Given the description of an element on the screen output the (x, y) to click on. 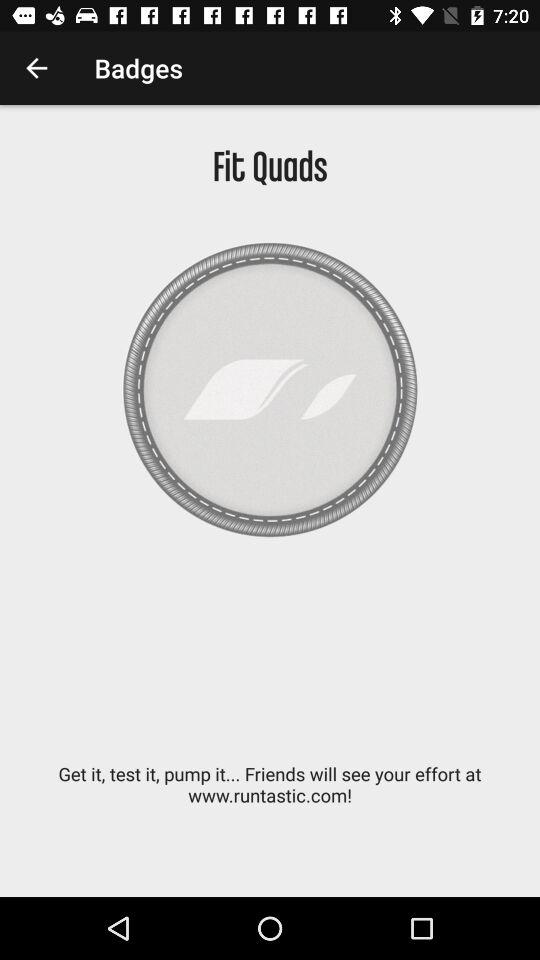
turn on the app next to the badges item (36, 68)
